Given the description of an element on the screen output the (x, y) to click on. 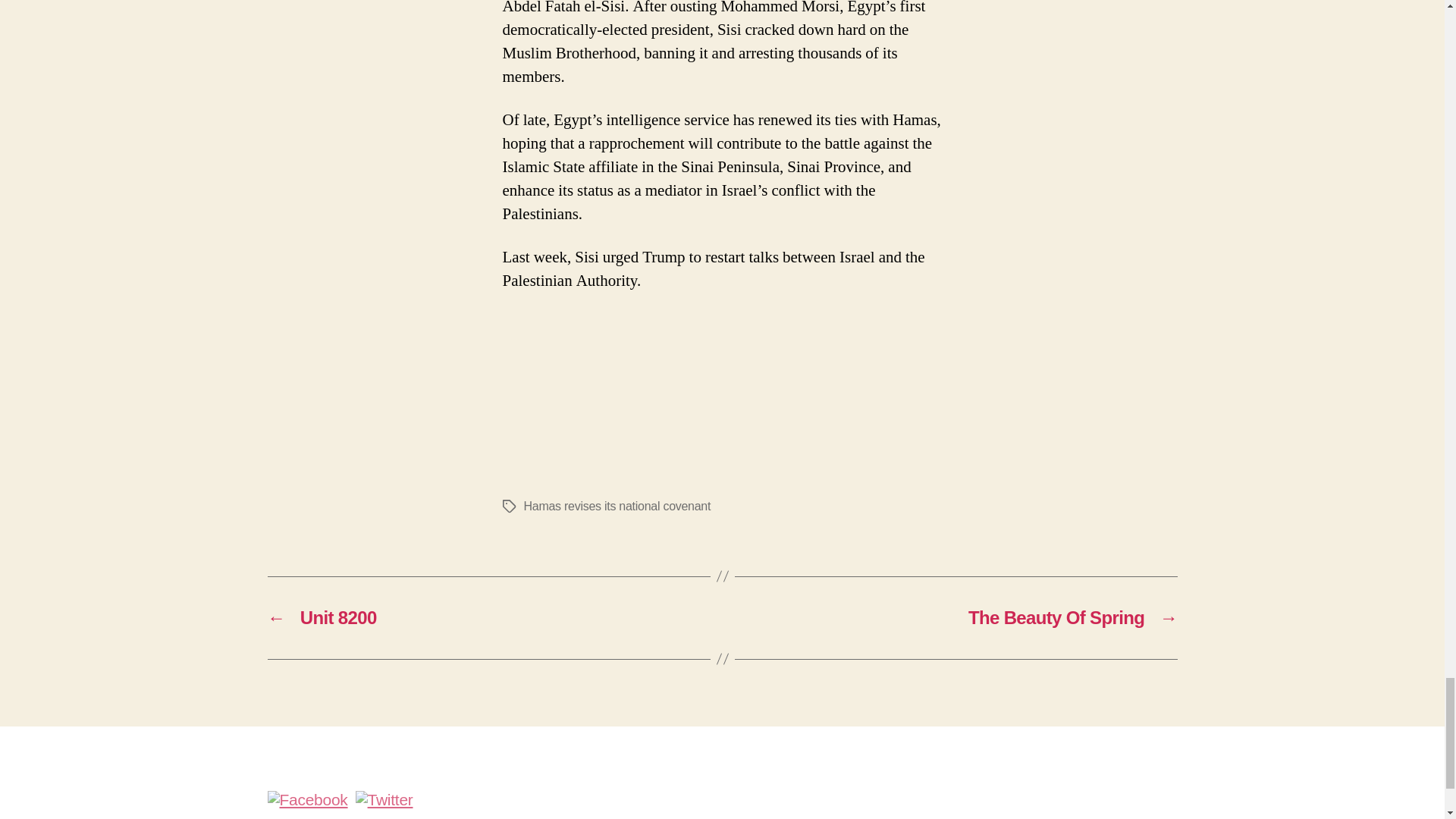
Hamas revises its national covenant (616, 505)
Page 1 (722, 368)
 Twitter (384, 800)
 Facebook (306, 800)
